Given the description of an element on the screen output the (x, y) to click on. 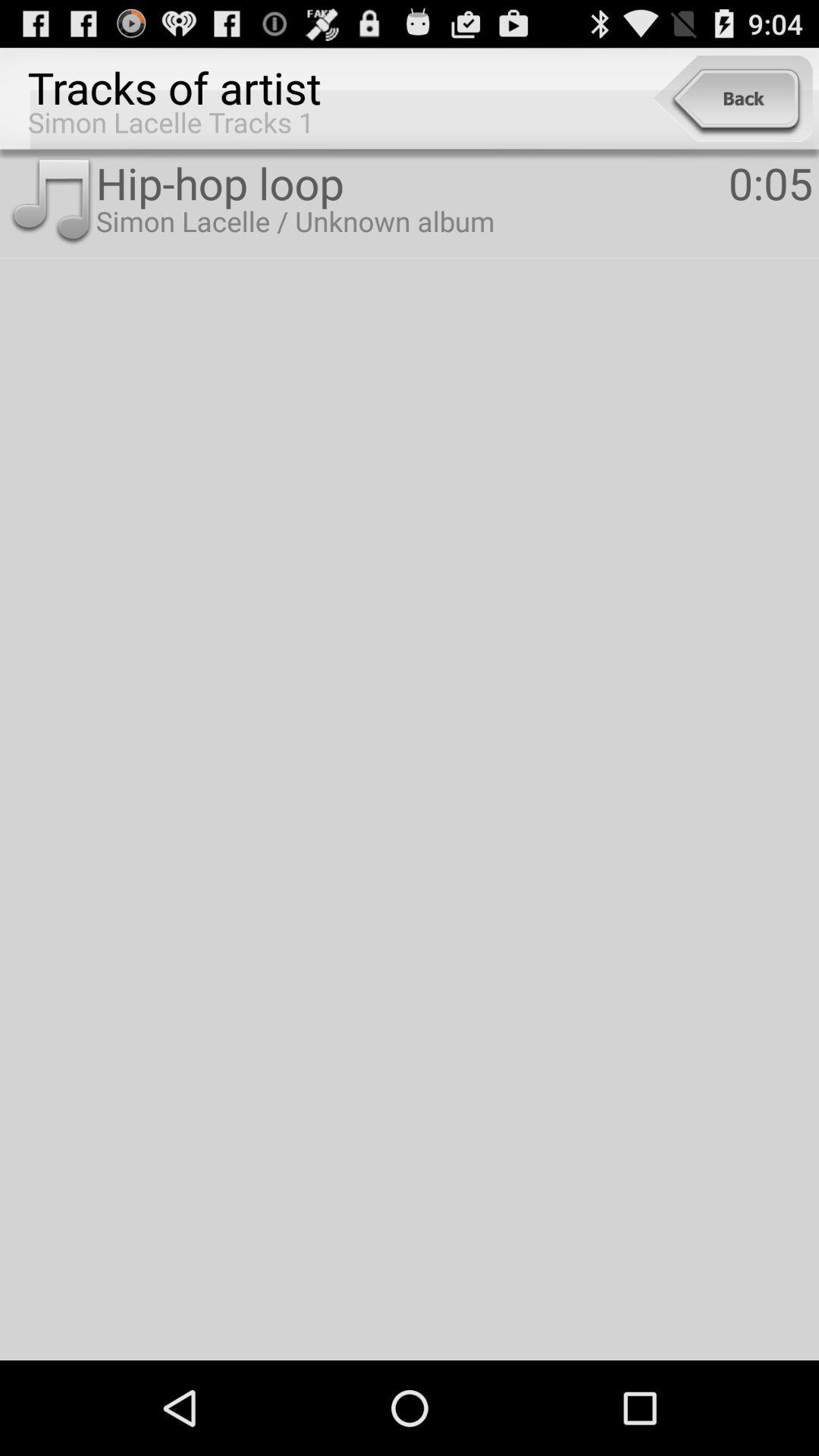
jump to the hip-hop loop app (412, 182)
